Given the description of an element on the screen output the (x, y) to click on. 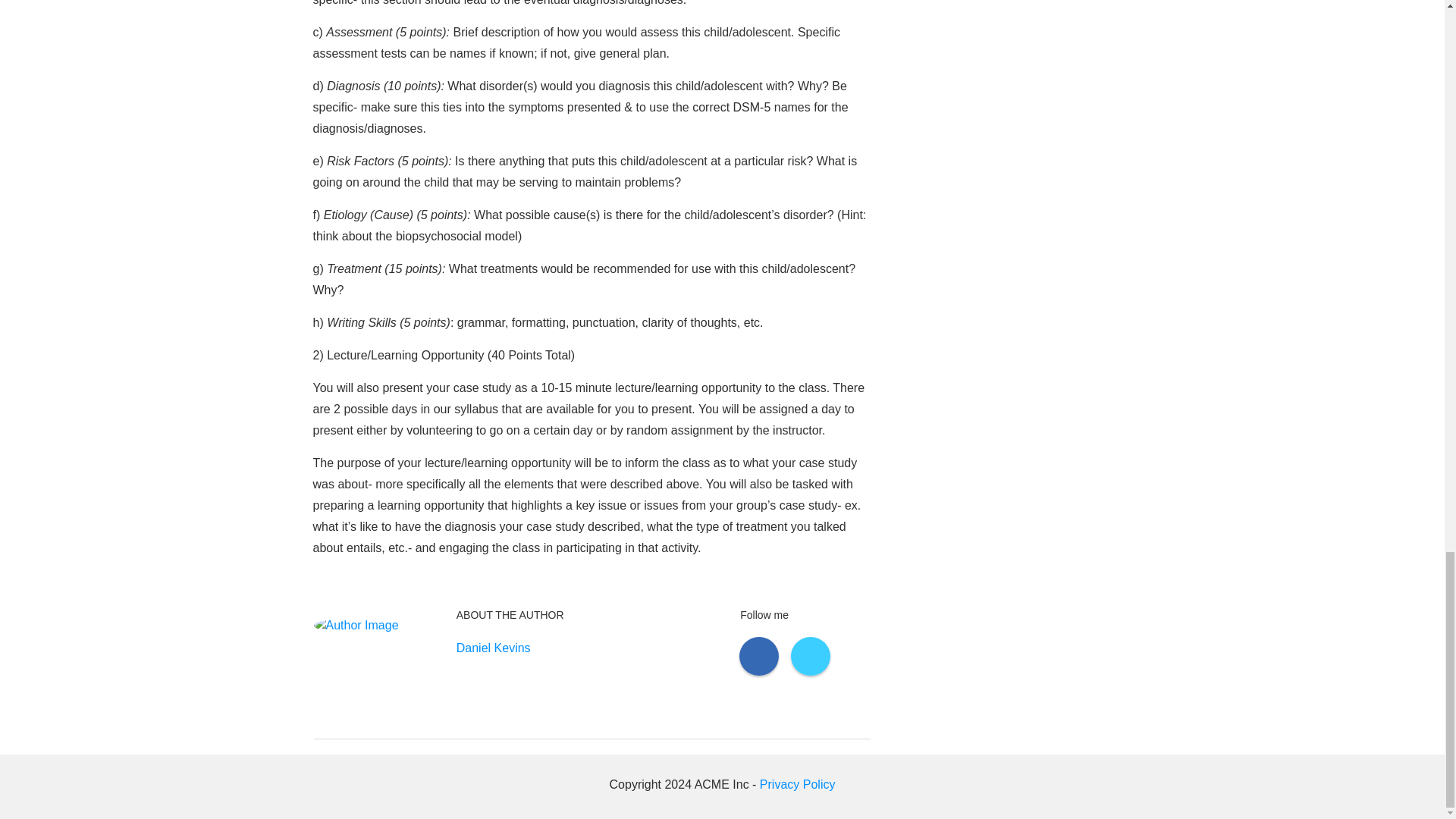
Privacy Policy (797, 784)
Daniel Kevins (494, 647)
